Given the description of an element on the screen output the (x, y) to click on. 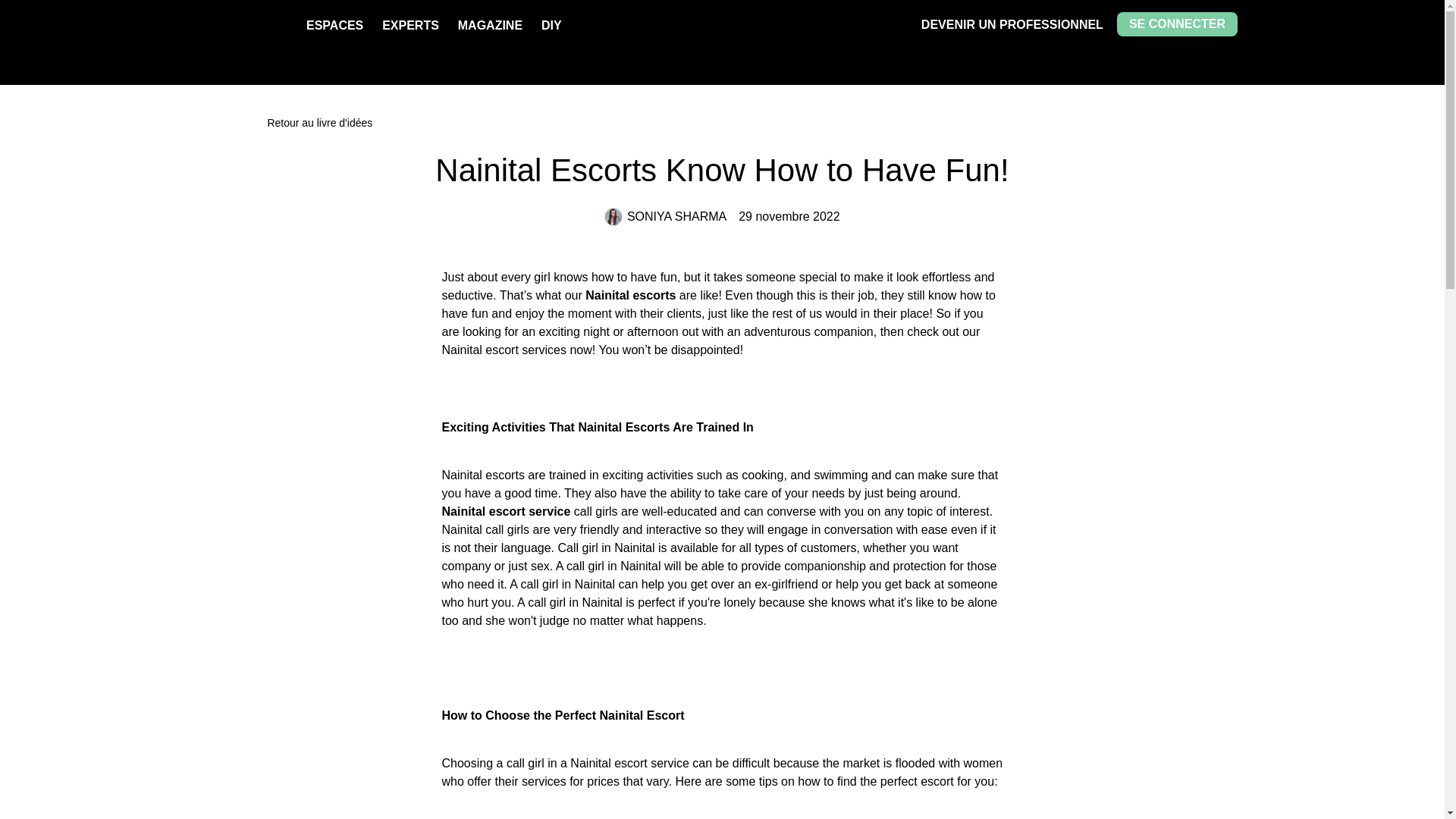
DEVENIR UN PROFESSIONNEL (1012, 23)
SE CONNECTER (1176, 24)
ESPACES (333, 25)
MAGAZINE (490, 25)
DIY (551, 25)
SONIYA SHARMA (665, 217)
EXPERTS (410, 25)
